Given the description of an element on the screen output the (x, y) to click on. 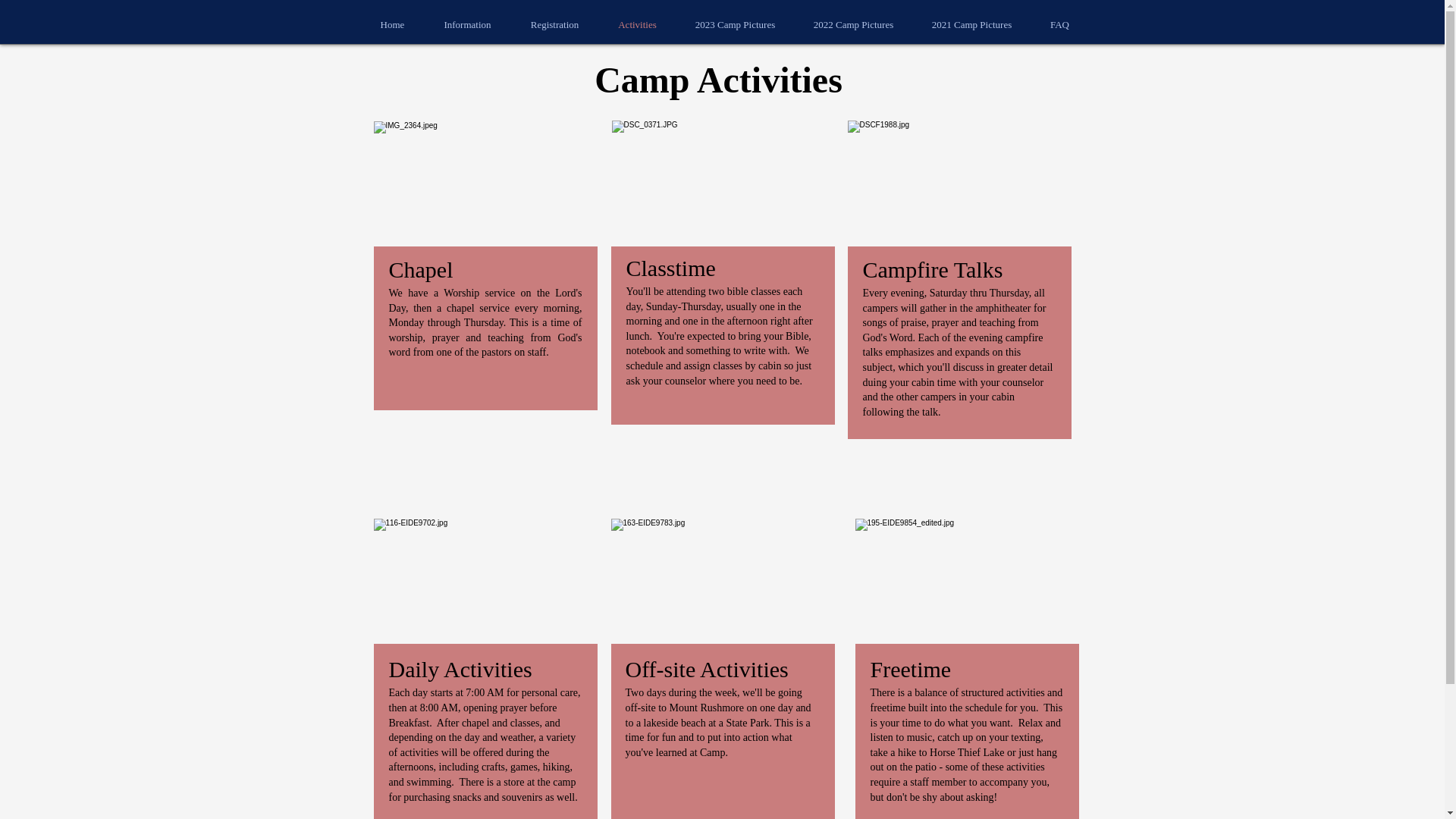
Information (468, 24)
FAQ (1059, 24)
2022 Camp Pictures (853, 24)
Activities (637, 24)
Home (393, 24)
2021 Camp Pictures (971, 24)
Registration (554, 24)
2023 Camp Pictures (735, 24)
